Given the description of an element on the screen output the (x, y) to click on. 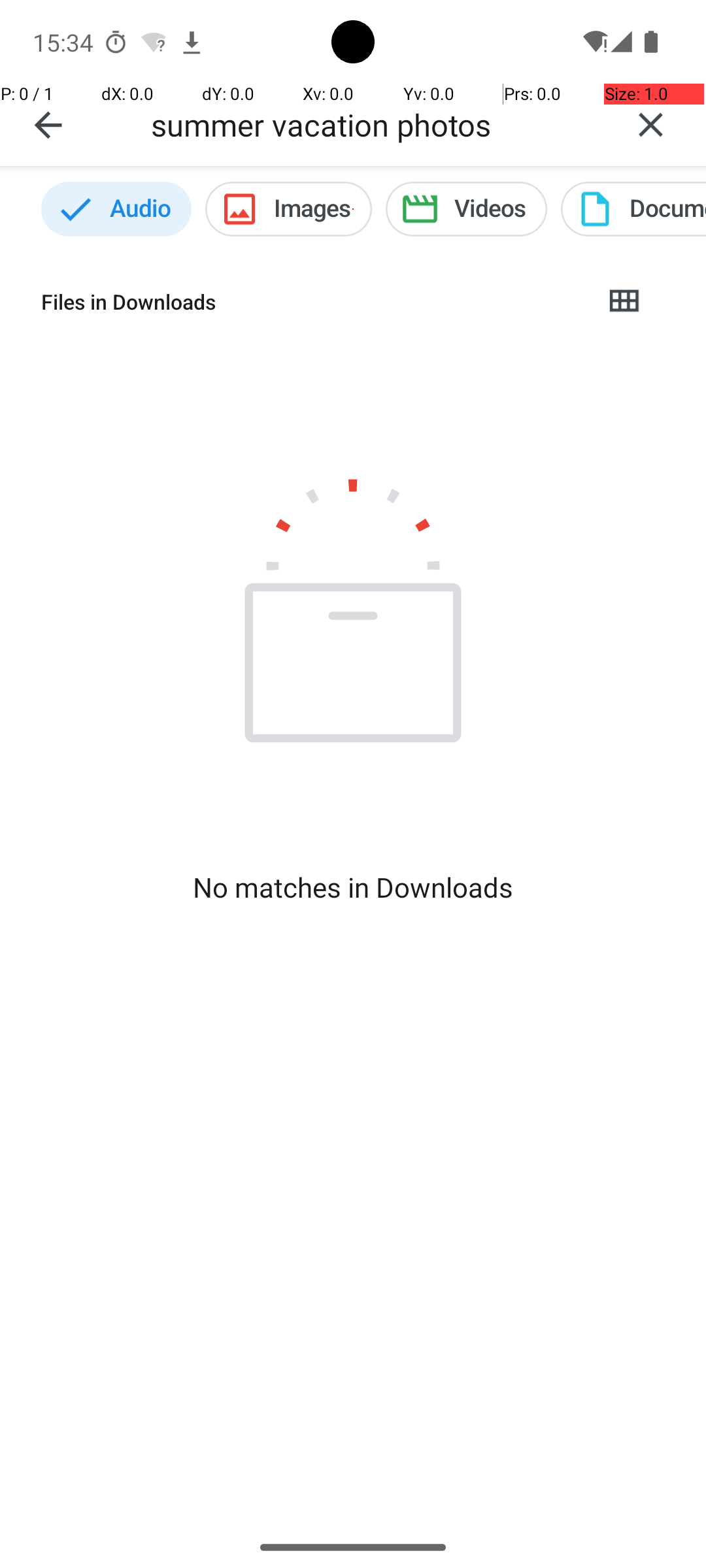
summer vacation photos Element type: android.widget.AutoCompleteTextView (373, 124)
